Given the description of an element on the screen output the (x, y) to click on. 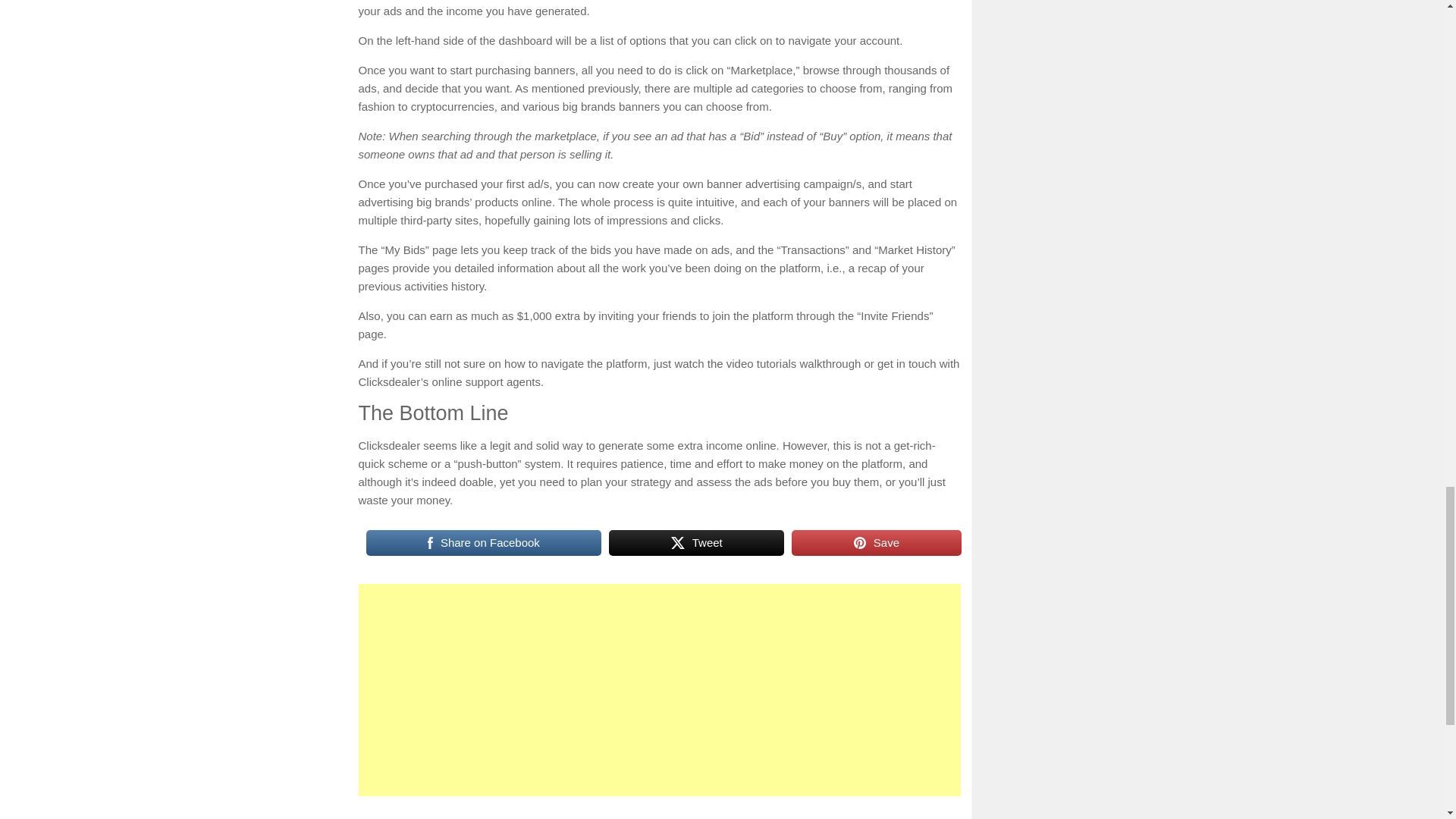
Tweet (696, 542)
Save (876, 542)
Share on Facebook (483, 542)
